Given the description of an element on the screen output the (x, y) to click on. 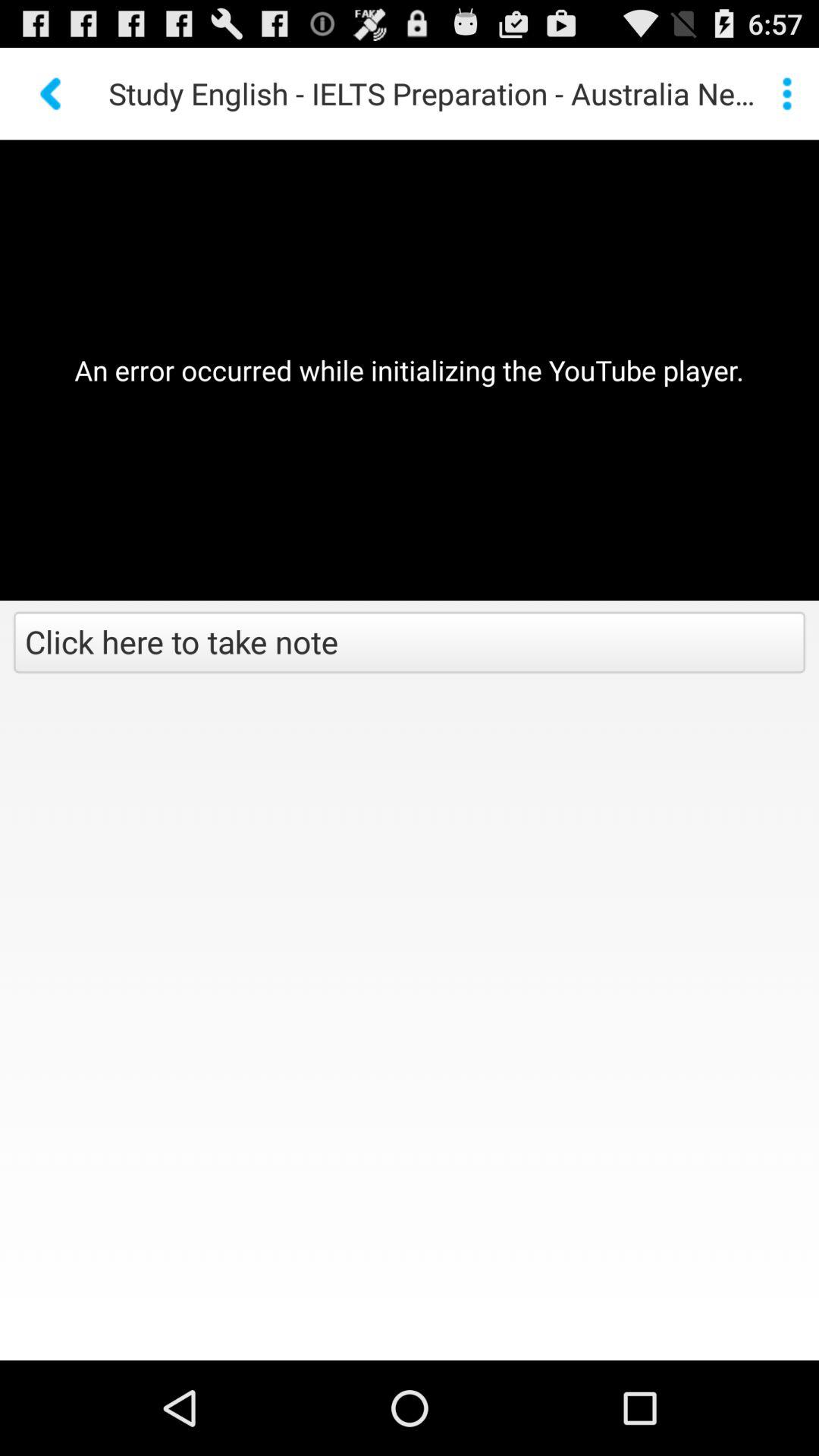
launch item next to study english ielts item (787, 93)
